Given the description of an element on the screen output the (x, y) to click on. 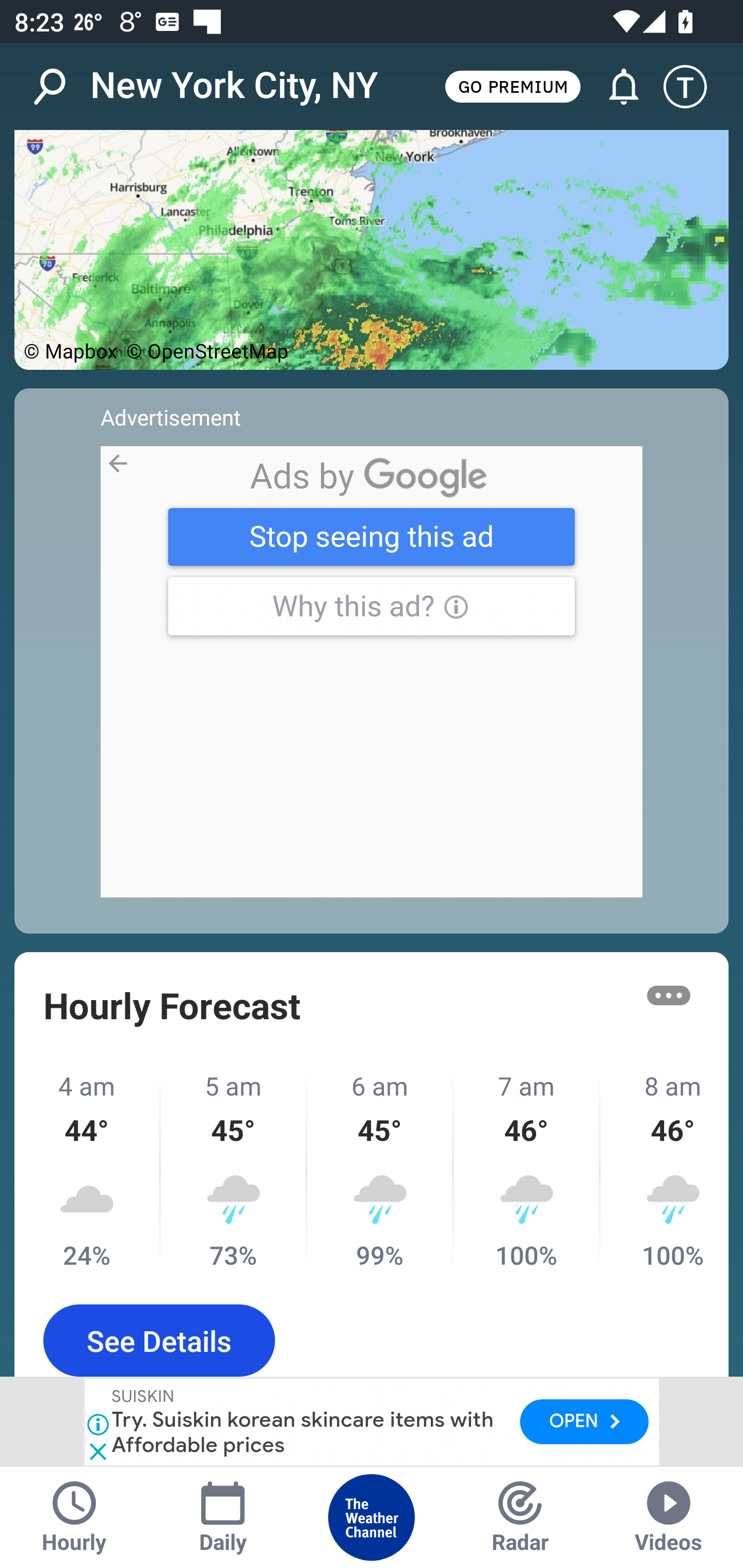
Search (59, 86)
Go to Alerts and Notifications (614, 86)
Setting icon T (694, 86)
New York City, NY (234, 85)
GO PREMIUM (512, 85)
See Map Details (371, 250)
More options (668, 994)
4 am 44° 24% (87, 1169)
5 am 45° 73% (234, 1169)
6 am 45° 99% (380, 1169)
7 am 46° 100% (526, 1169)
8 am 46° 100% (664, 1169)
See Details (158, 1340)
SUISKIN (143, 1397)
OPEN (584, 1421)
Hourly Tab Hourly (74, 1517)
Daily Tab Daily (222, 1517)
Radar Tab Radar (519, 1517)
Videos Tab Videos (668, 1517)
